Given the description of an element on the screen output the (x, y) to click on. 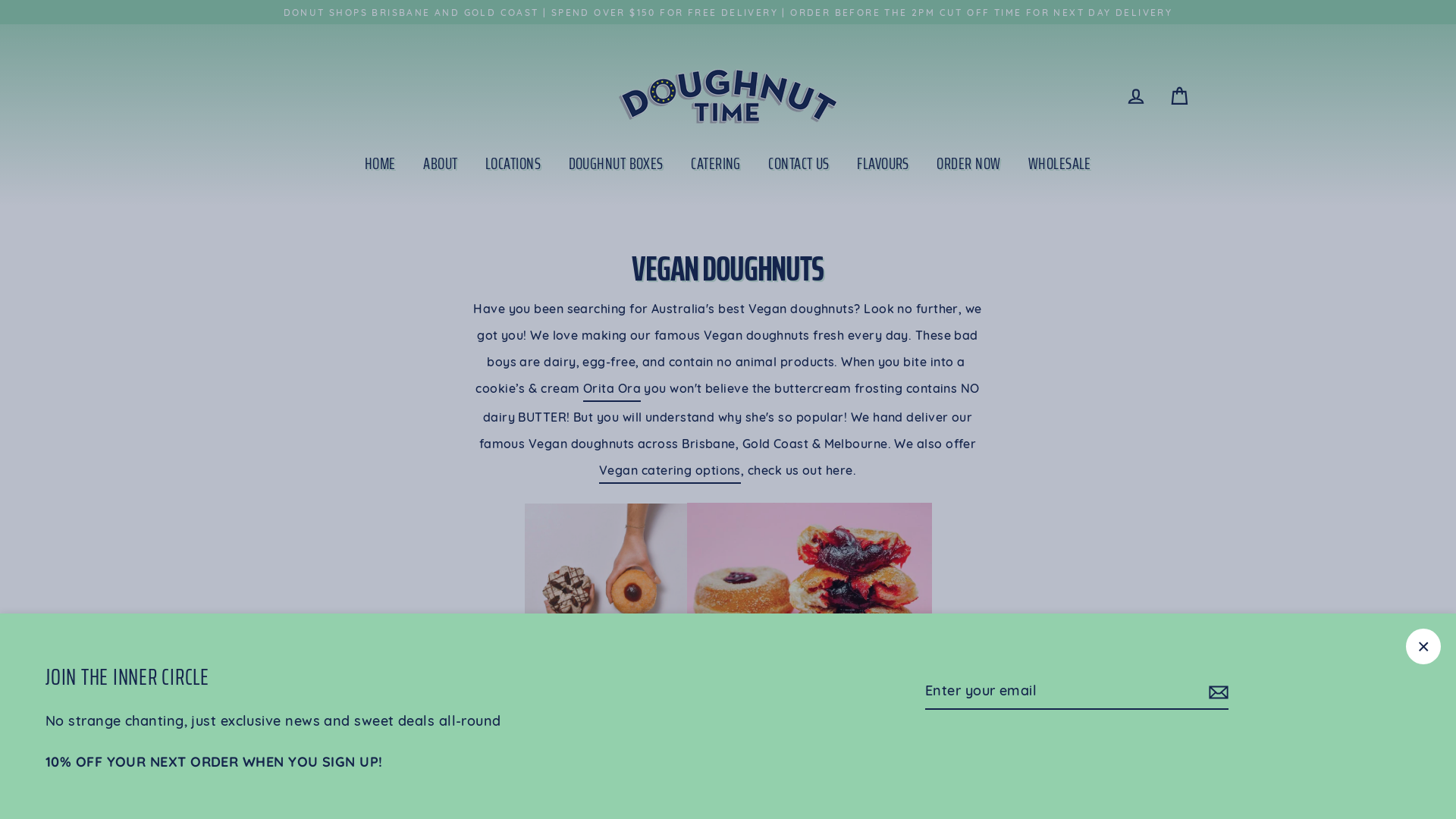
ABOUT Element type: text (439, 163)
HOME Element type: text (380, 163)
WHOLESALE Element type: text (1059, 163)
Close (esc) Element type: text (1422, 646)
Subscribe Element type: hover (1216, 691)
Log in Element type: text (1135, 95)
Vegan catering options Element type: text (670, 472)
Cart Element type: text (1179, 95)
LOCATIONS Element type: text (512, 163)
ORDER NOW Element type: text (968, 163)
CATERING Element type: text (715, 163)
Orita Ora Element type: text (611, 390)
DOUGHNUT BOXES Element type: text (615, 163)
Skip to content Element type: text (0, 0)
FLAVOURS Element type: text (882, 163)
CONTACT US Element type: text (798, 163)
